Given the description of an element on the screen output the (x, y) to click on. 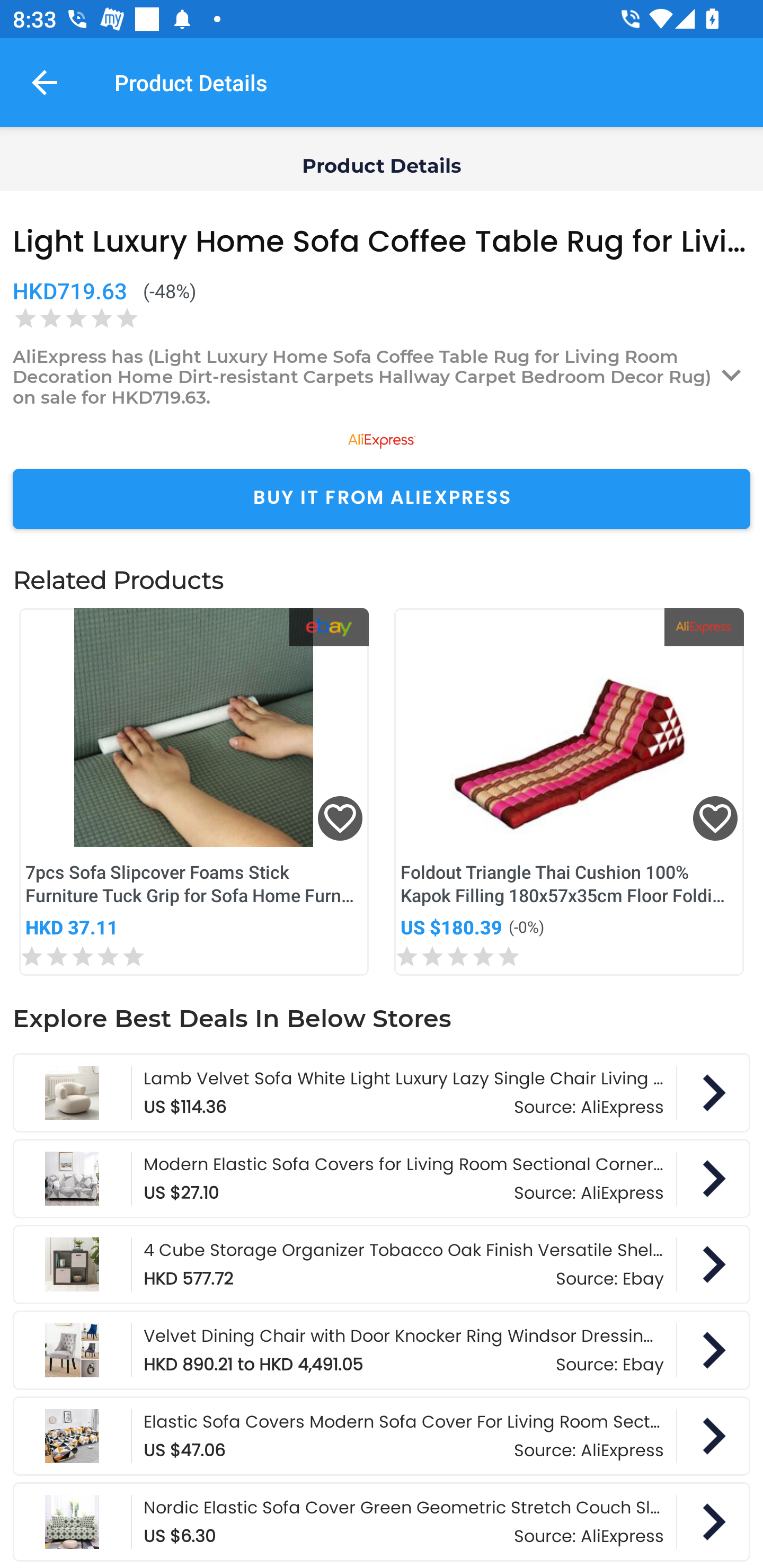
Navigate up (44, 82)
BUY IT FROM ALIEXPRESS (381, 499)
